Given the description of an element on the screen output the (x, y) to click on. 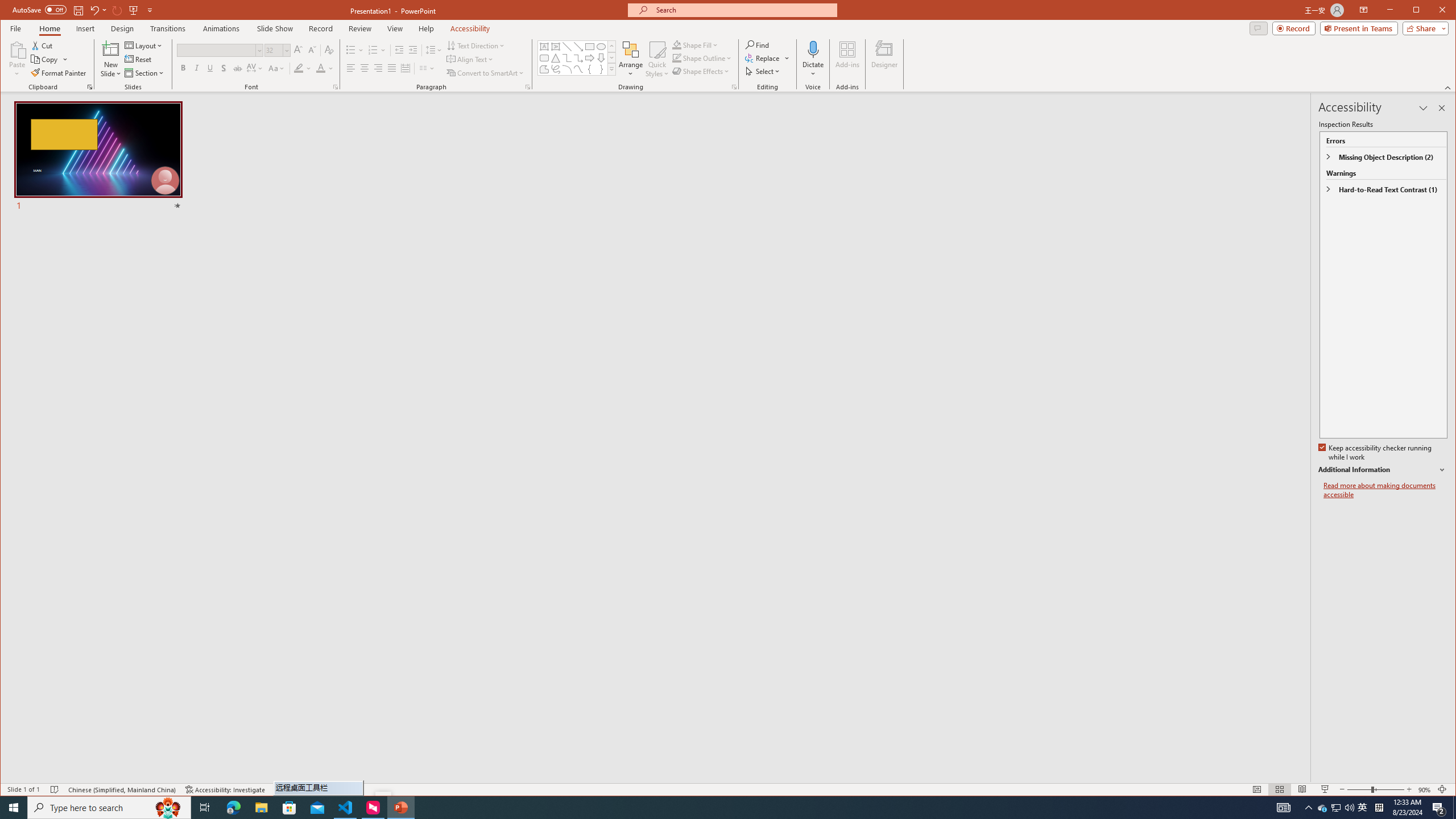
Shape Fill Orange, Accent 2 (676, 44)
Format Painter (59, 72)
Shape Outline (702, 57)
Font Color Red (320, 68)
Zoom 90% (1424, 789)
